Given the description of an element on the screen output the (x, y) to click on. 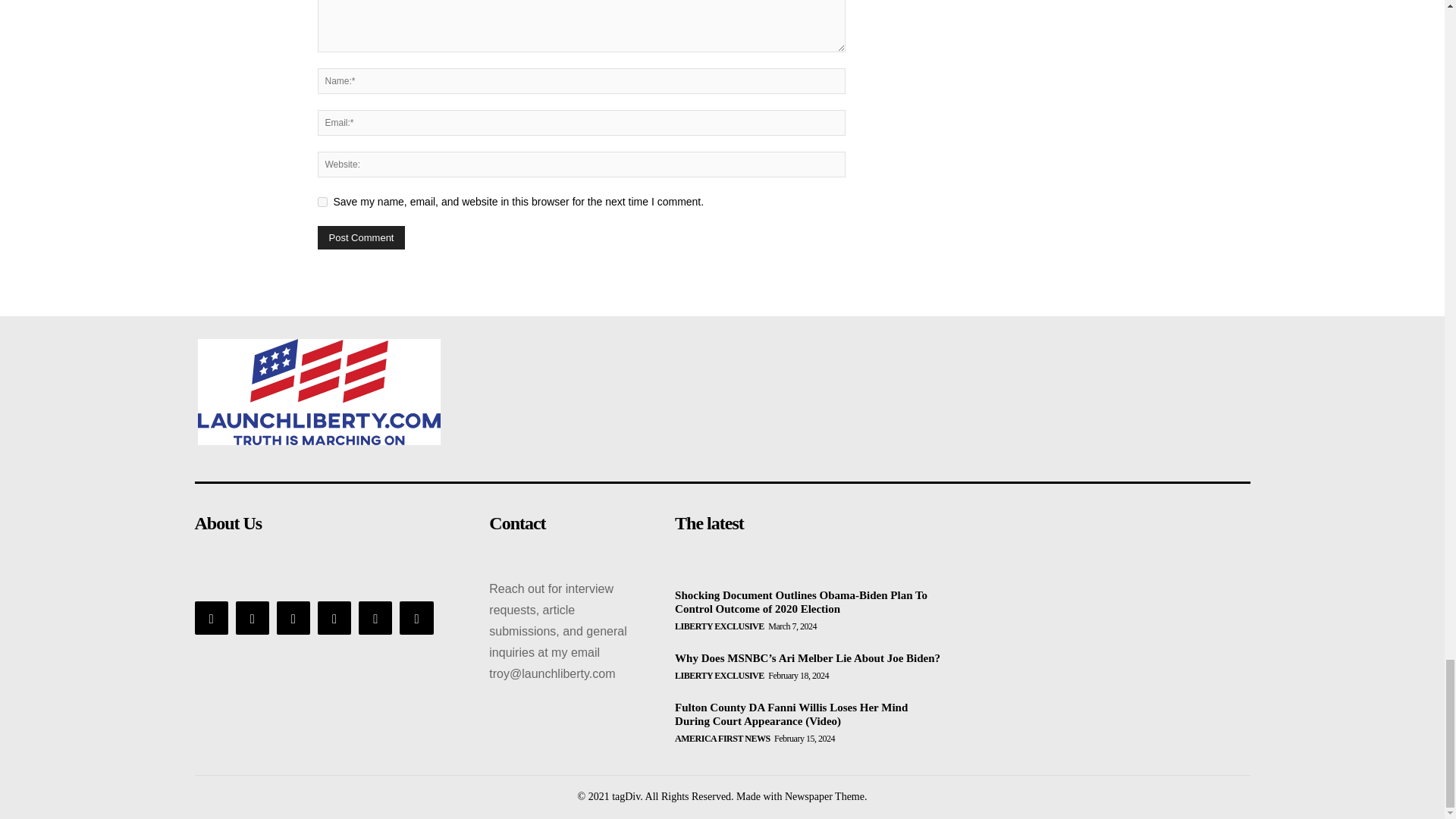
yes (321, 202)
Post Comment (360, 237)
